Given the description of an element on the screen output the (x, y) to click on. 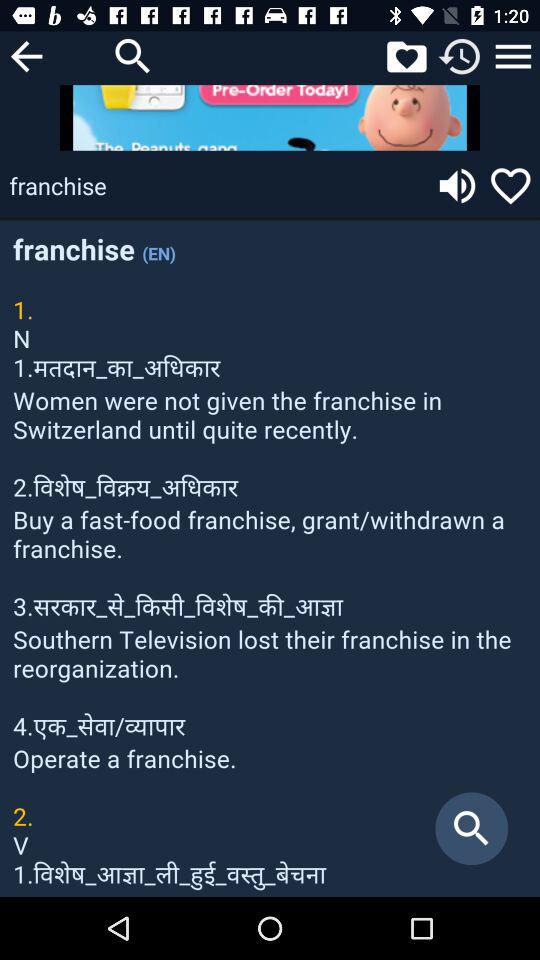
alaram set option (460, 56)
